Given the description of an element on the screen output the (x, y) to click on. 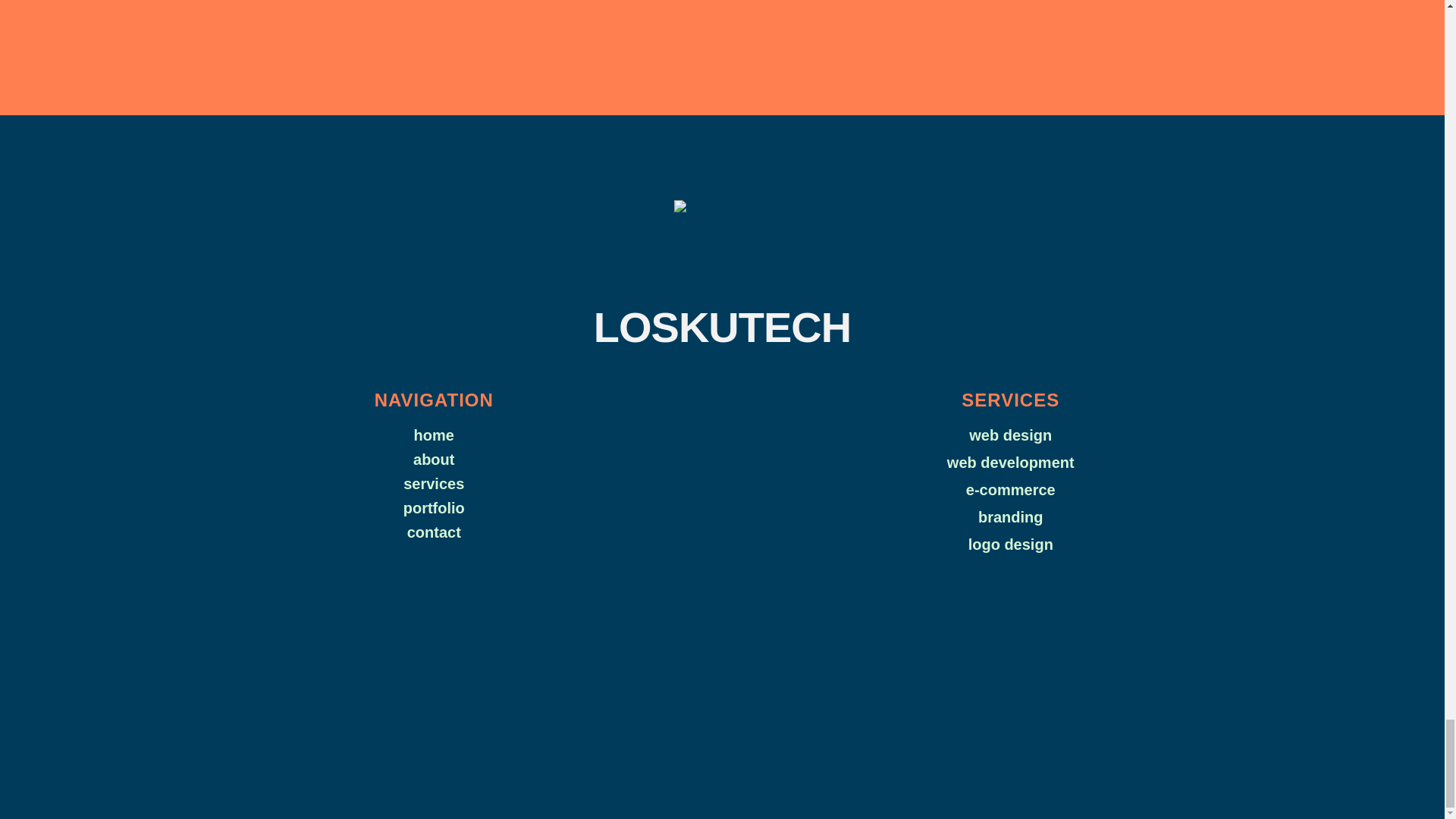
portfolio (433, 507)
about (433, 459)
contact (434, 531)
services (433, 483)
home (433, 435)
